Given the description of an element on the screen output the (x, y) to click on. 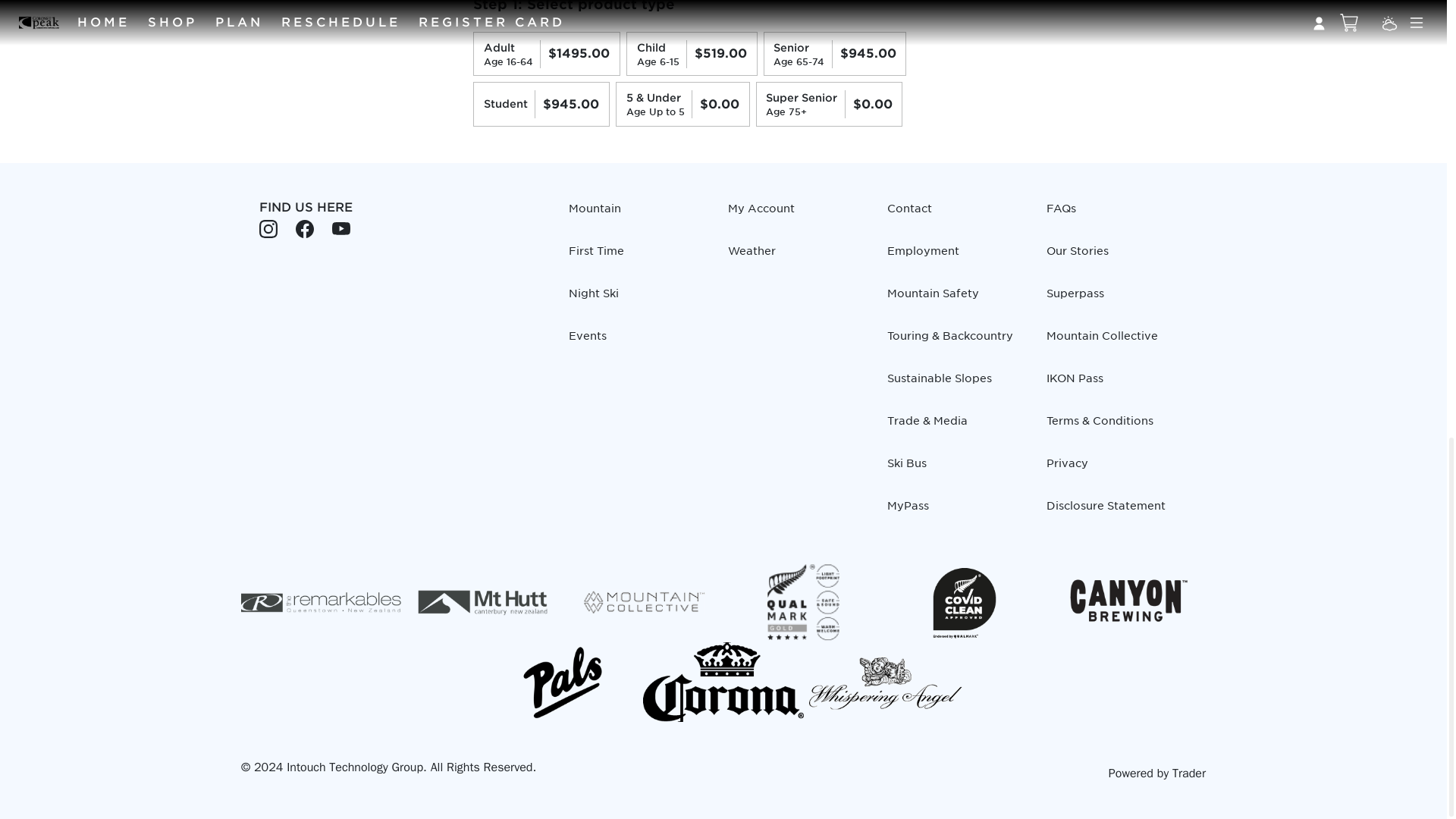
Contact (956, 214)
MyPass (956, 511)
Mountain (639, 214)
Events (639, 341)
Weather (798, 256)
First Time (639, 256)
Ski Bus (956, 469)
Mountain Safety (956, 299)
Night Ski (639, 299)
My Account (798, 214)
Employment (956, 256)
Sustainable Slopes (956, 384)
